Given the description of an element on the screen output the (x, y) to click on. 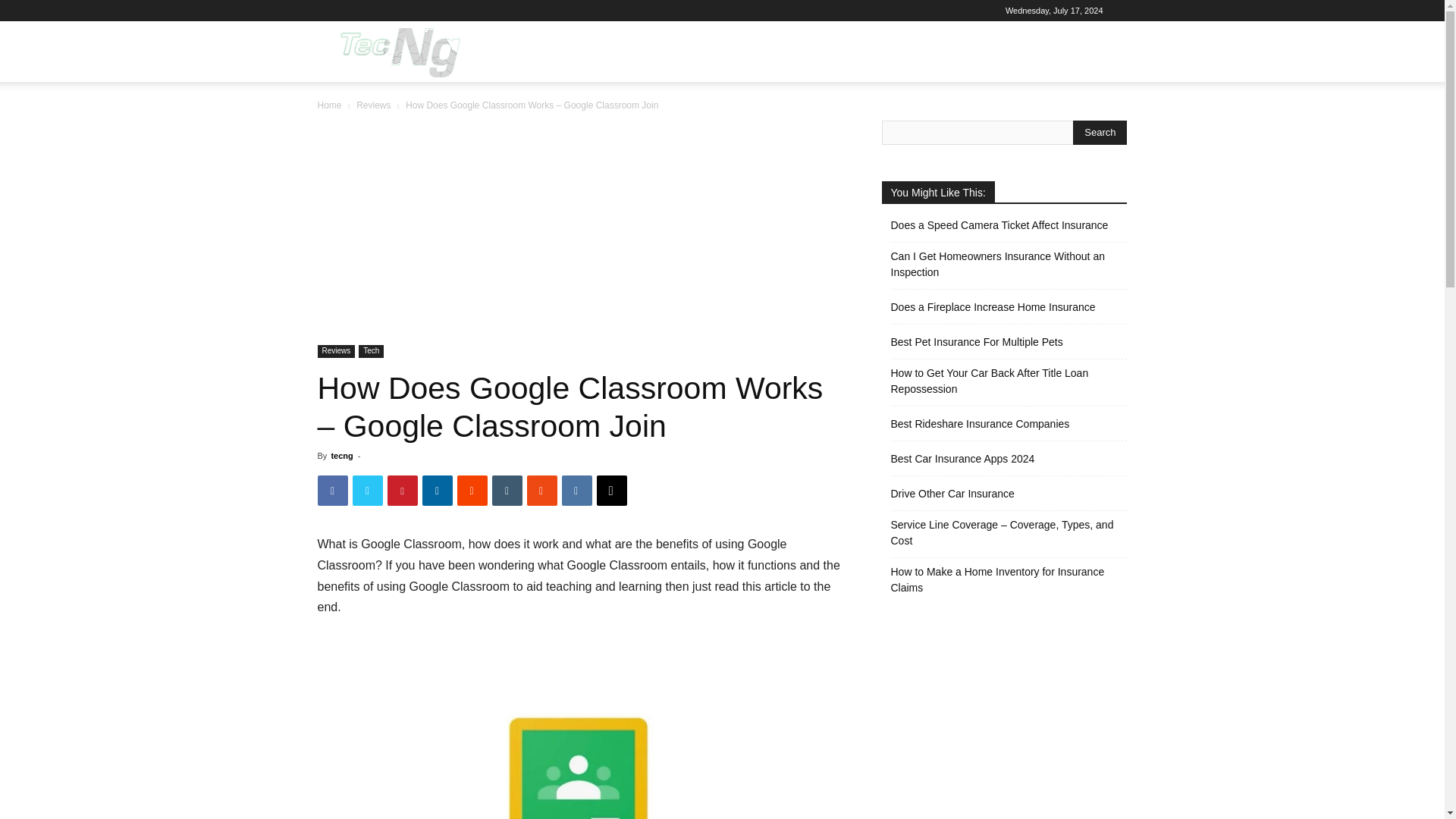
Tech (371, 350)
TecNg (398, 51)
Linkedin (436, 490)
Reviews (336, 350)
Home (328, 104)
tecng (341, 455)
Tumblr (506, 490)
Mix (540, 490)
ReddIt (471, 490)
INSURANCE (887, 51)
SCHOLARSHIP (978, 51)
VK (575, 490)
HOME (537, 51)
TECH (749, 51)
Twitter (366, 490)
